Given the description of an element on the screen output the (x, y) to click on. 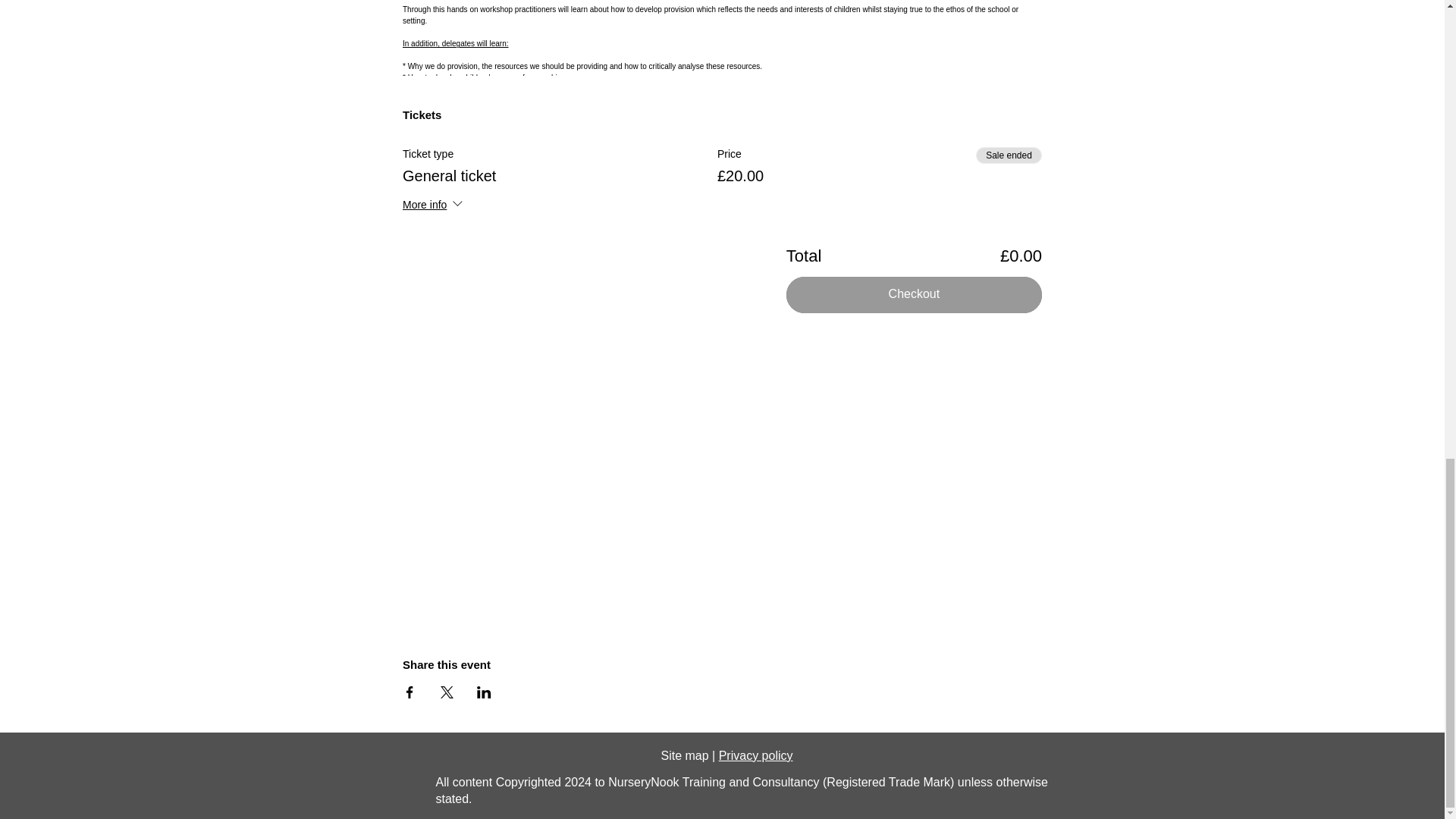
More info (434, 205)
Privacy policy (756, 755)
Checkout (914, 294)
